Given the description of an element on the screen output the (x, y) to click on. 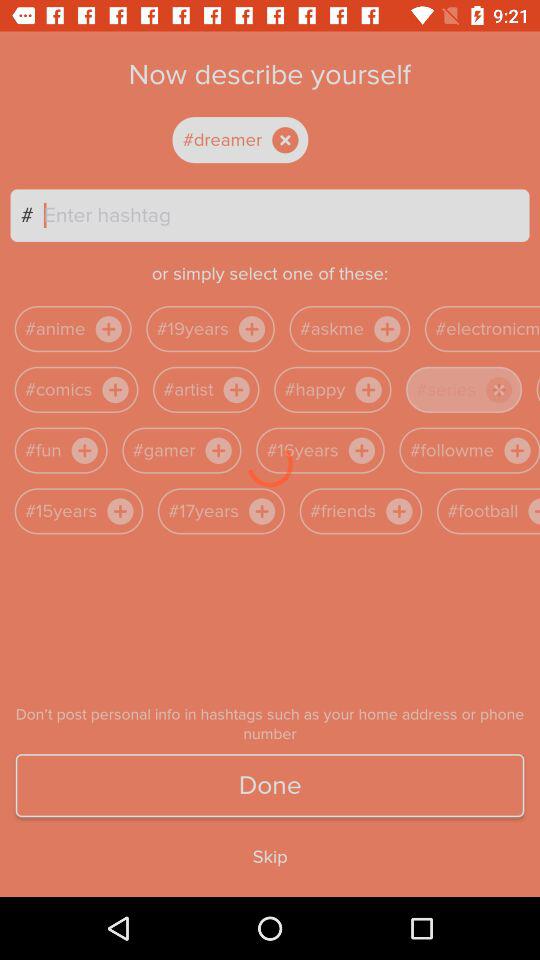
enter hashtag to describe yourself (286, 215)
